Given the description of an element on the screen output the (x, y) to click on. 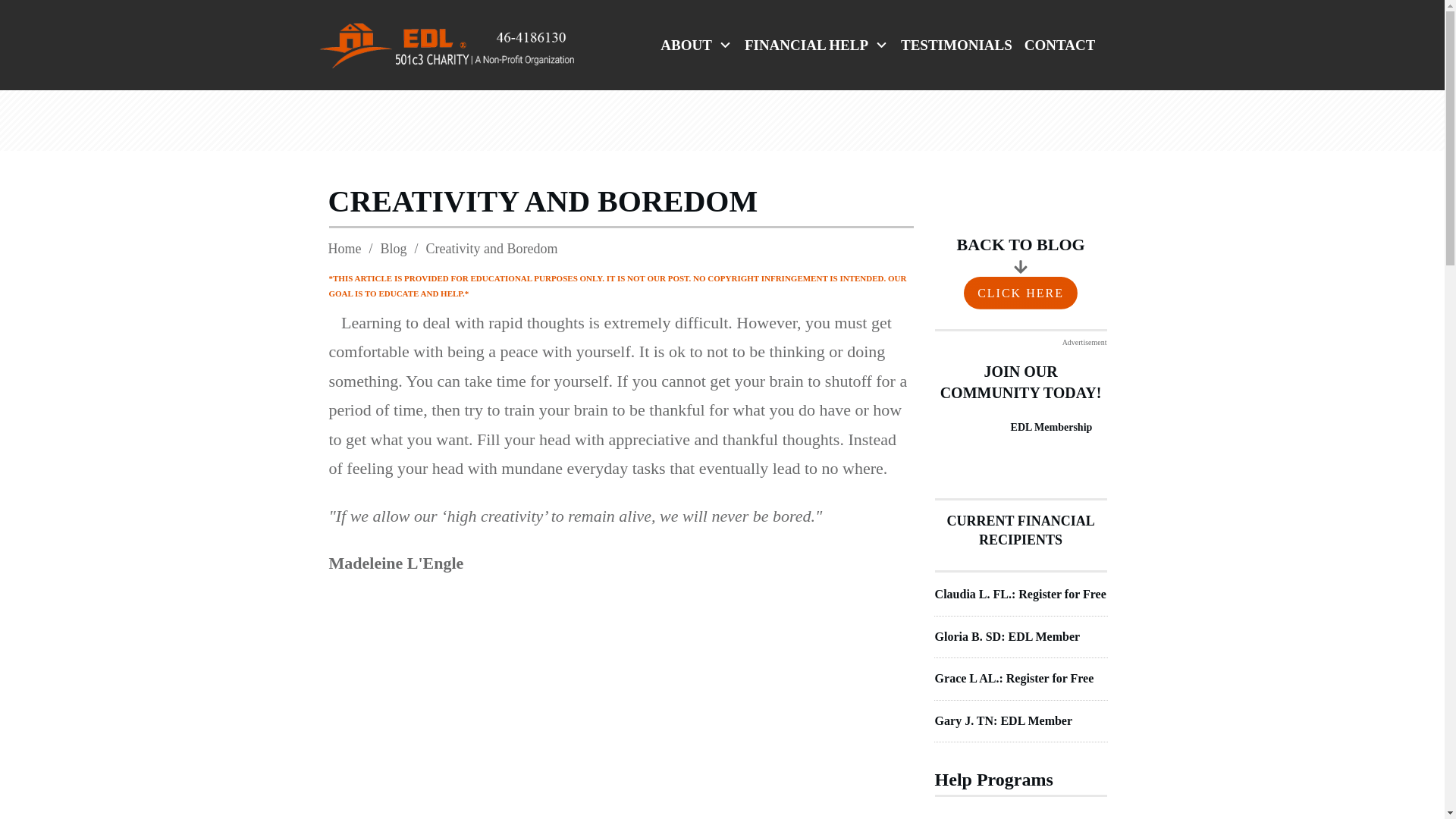
CONTACT (1060, 45)
4 Tips to More Affordable Living (1049, 818)
Home (344, 248)
Grace L AL.: Register for Free (1014, 677)
CREATIVITY AND BOREDOM (542, 201)
Gloria B. SD: EDL Member (1007, 635)
Creativity and Boredom (542, 201)
ABOUT (696, 45)
4 Tips to More Affordable Living (1049, 818)
Blog (393, 248)
